Given the description of an element on the screen output the (x, y) to click on. 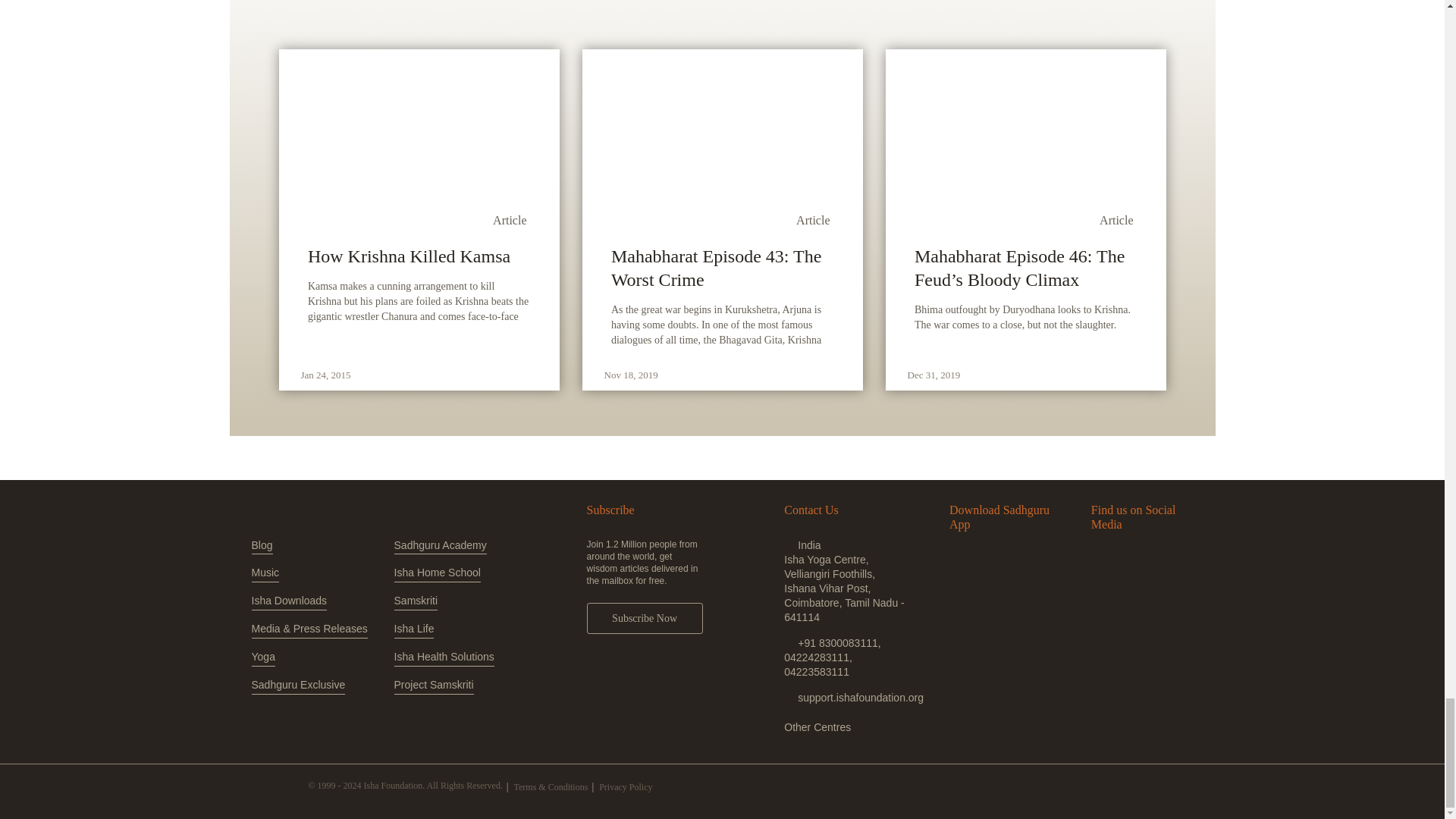
How Krishna Killed Kamsa (418, 256)
Mahabharat Episode 43: The Worst Crime (721, 267)
